Given the description of an element on the screen output the (x, y) to click on. 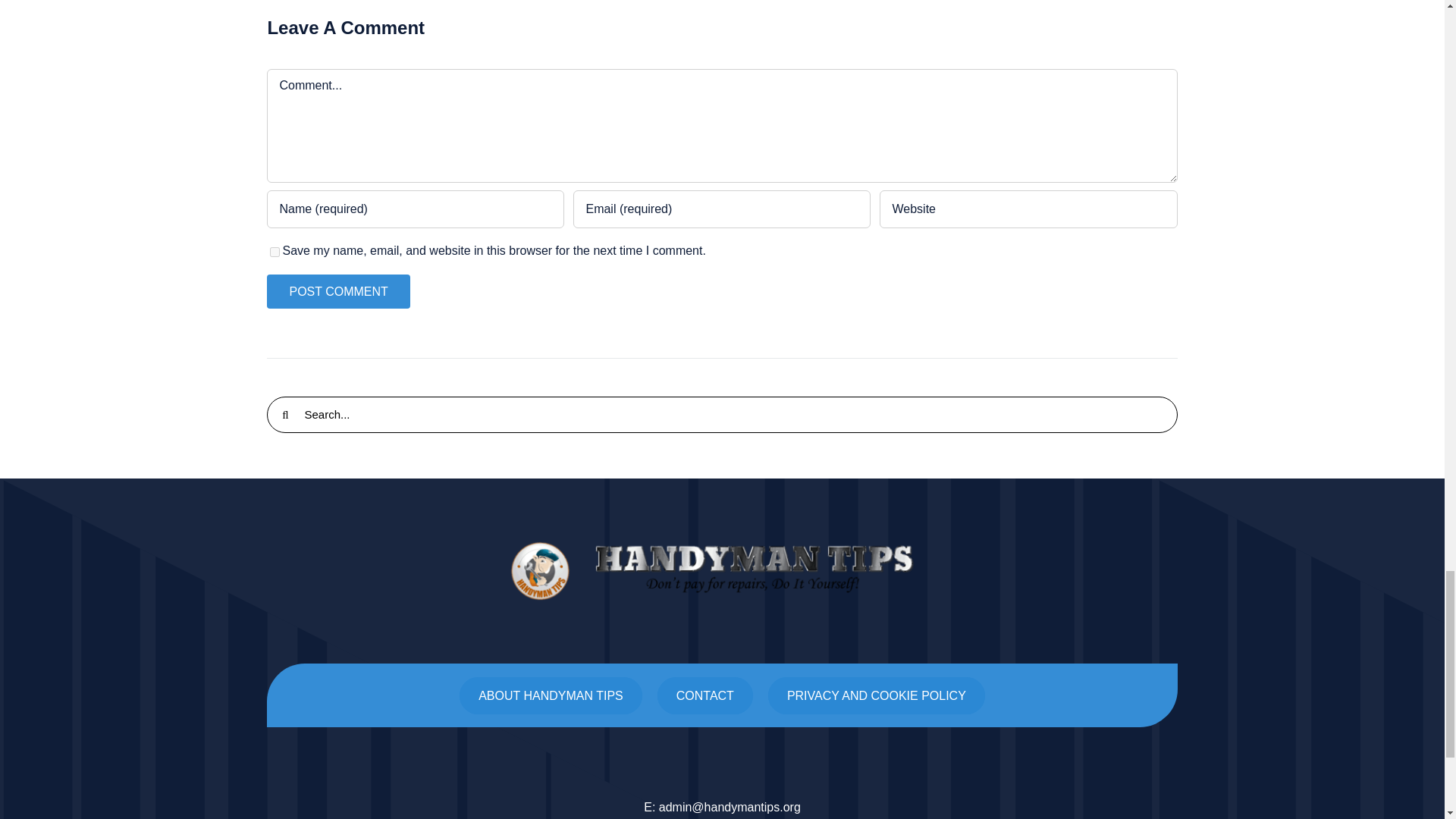
Post Comment (337, 291)
yes (274, 252)
ABOUT HANDYMAN TIPS (551, 695)
CONTACT (705, 695)
PRIVACY AND COOKIE POLICY (876, 695)
Handyman tips header new (721, 570)
Post Comment (337, 291)
